Given the description of an element on the screen output the (x, y) to click on. 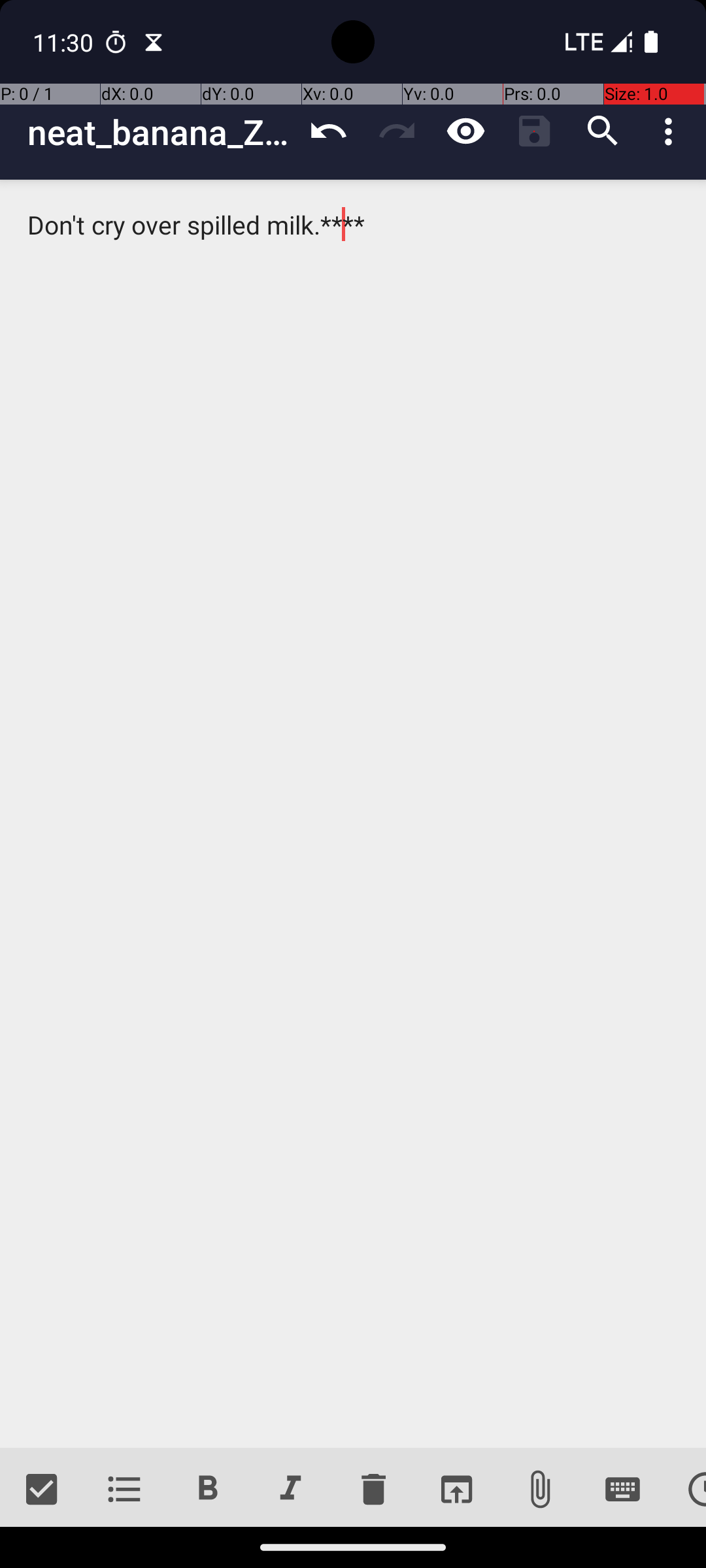
neat_banana_Zjqa Element type: android.widget.TextView (160, 131)
Don't cry over spilled milk.****
 Element type: android.widget.EditText (353, 813)
11:30 Element type: android.widget.TextView (64, 41)
